Given the description of an element on the screen output the (x, y) to click on. 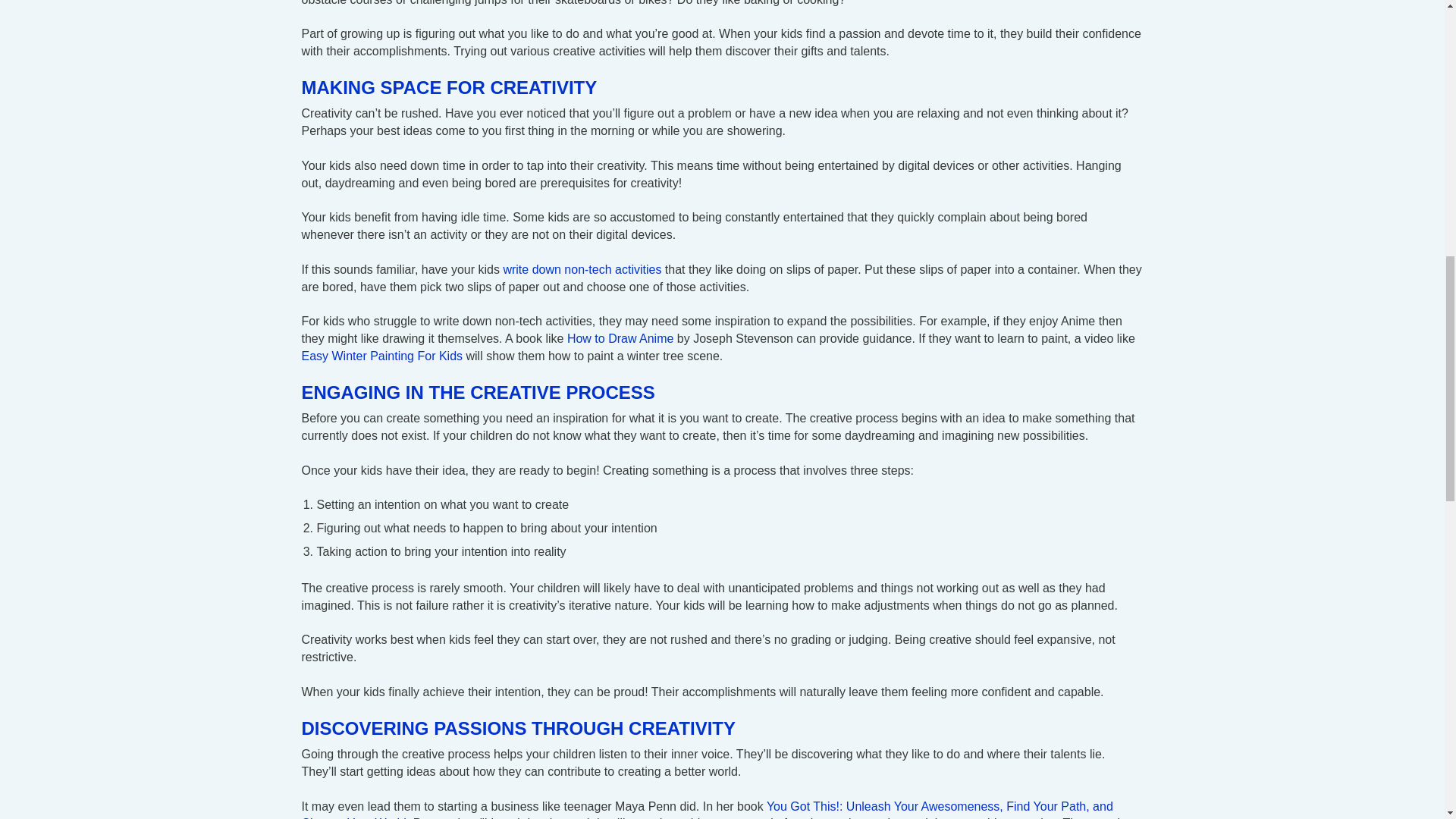
How to Draw Anime (620, 338)
write down non-tech activities (581, 269)
Easy Winter Painting For Kids (382, 355)
